Given the description of an element on the screen output the (x, y) to click on. 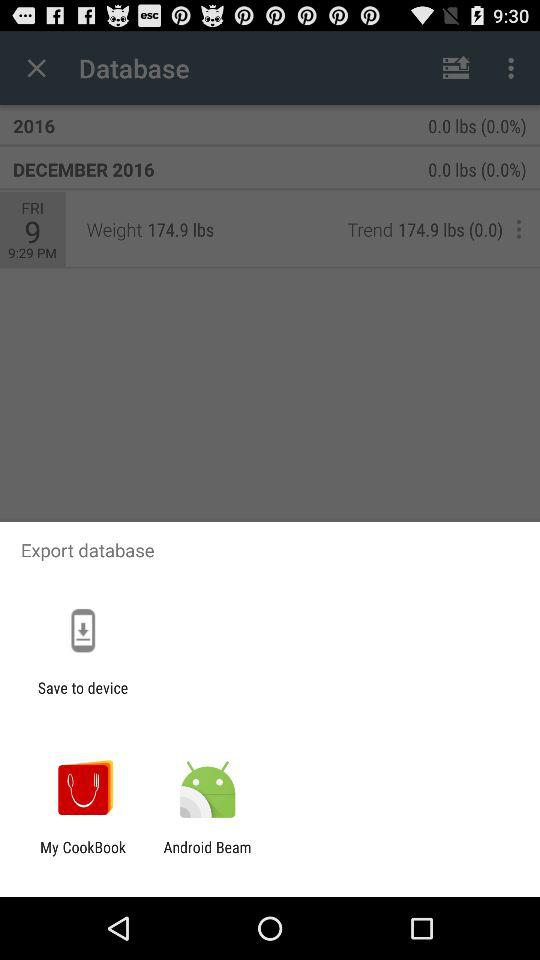
turn off icon to the right of the my cookbook (207, 856)
